Given the description of an element on the screen output the (x, y) to click on. 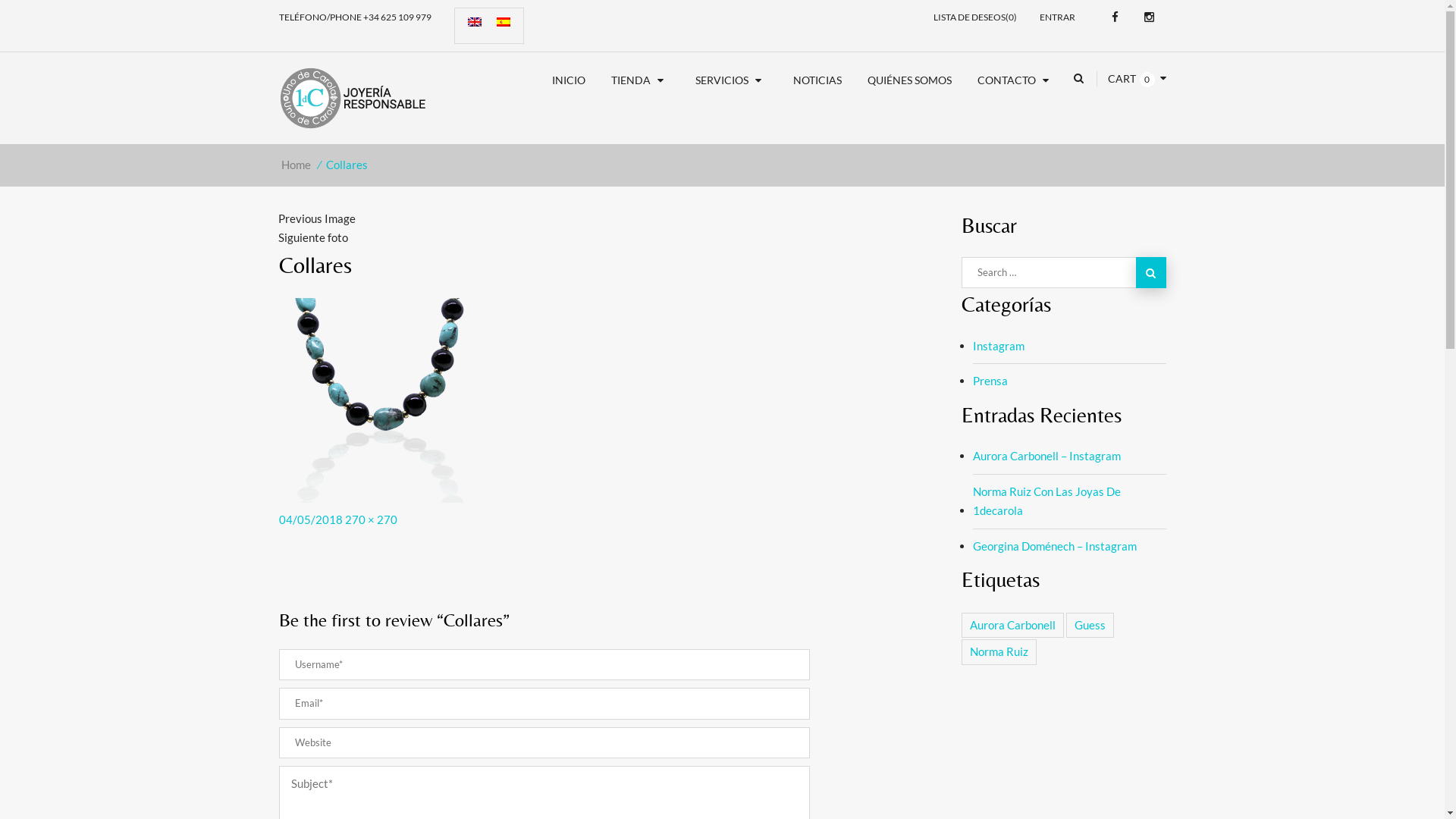
Norma Ruiz Element type: text (998, 652)
Search for: Element type: hover (1063, 272)
04/05/2018 Element type: text (310, 519)
Instagram Element type: text (997, 350)
Prensa Element type: text (989, 381)
ENTRAR Element type: text (1056, 17)
Aurora Carbonell Element type: text (1012, 625)
Home Element type: text (296, 164)
Entrar Element type: text (993, 167)
CART Element type: text (1121, 78)
Norma Ruiz Con Las Joyas De 1decarola Element type: text (1068, 501)
SERVICIOS Element type: text (731, 80)
LISTA DE DESEOS(0) Element type: text (974, 17)
CONTACTO Element type: text (1015, 80)
Instagram Element type: hover (1148, 17)
INICIO Element type: text (567, 80)
TIENDA Element type: text (639, 80)
Previous Image Element type: text (315, 217)
Siguiente foto Element type: text (312, 237)
Guess Element type: text (1089, 625)
Facebook Element type: hover (1115, 17)
NOTICIAS Element type: text (816, 80)
